Given the description of an element on the screen output the (x, y) to click on. 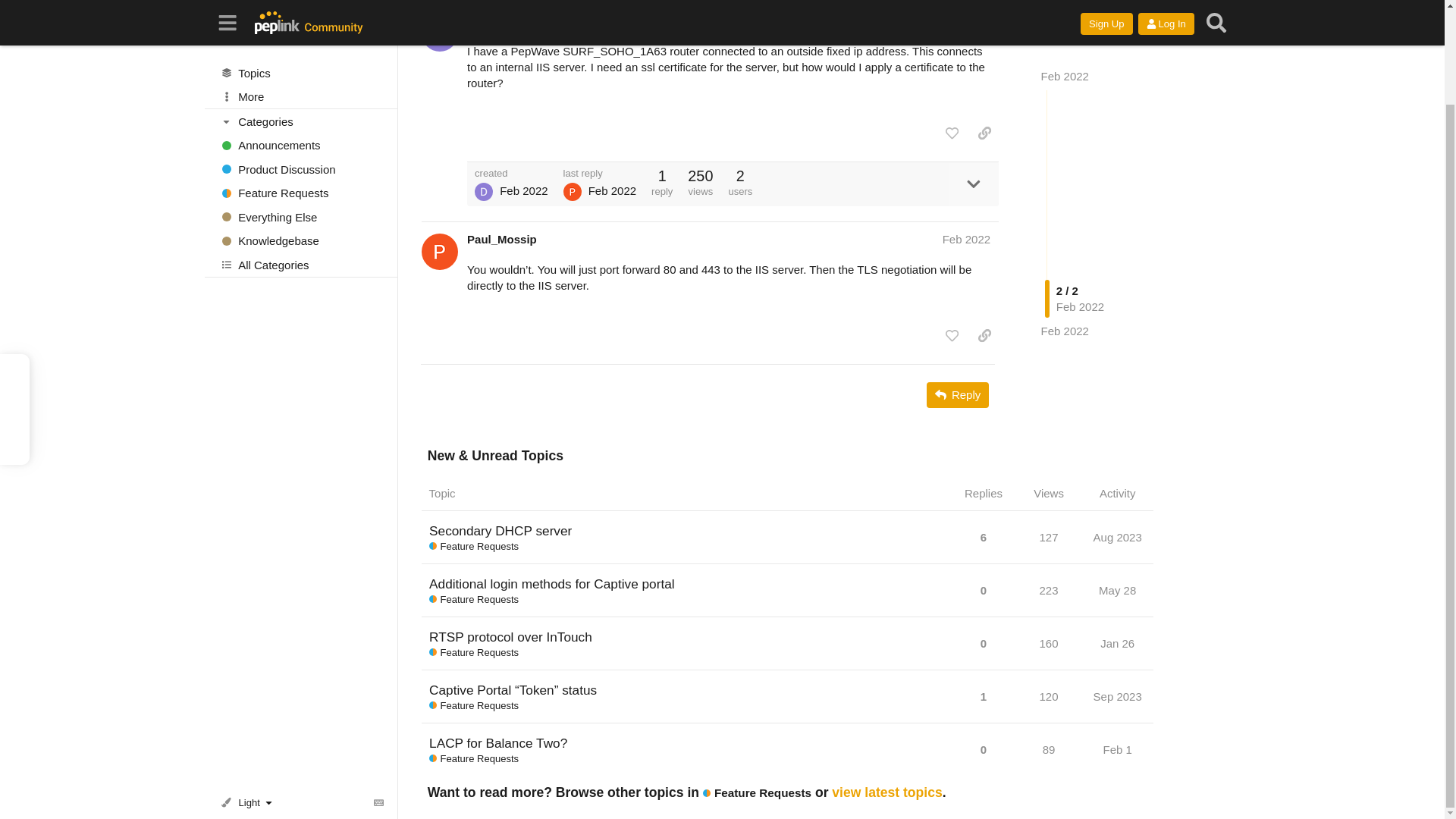
Feb 2022 (966, 20)
Product Discussion (301, 60)
Feature Requests (301, 84)
Knowledgebase (301, 132)
All Categories (301, 156)
Keyboard Shortcuts (378, 693)
Feb 2022 (1065, 265)
Categories (301, 12)
Catch exciting news that we have to share with you. (301, 37)
Feb 2022 (1065, 10)
last reply (600, 173)
Announcements (301, 37)
Collection of all things Peplink! (301, 108)
